Given the description of an element on the screen output the (x, y) to click on. 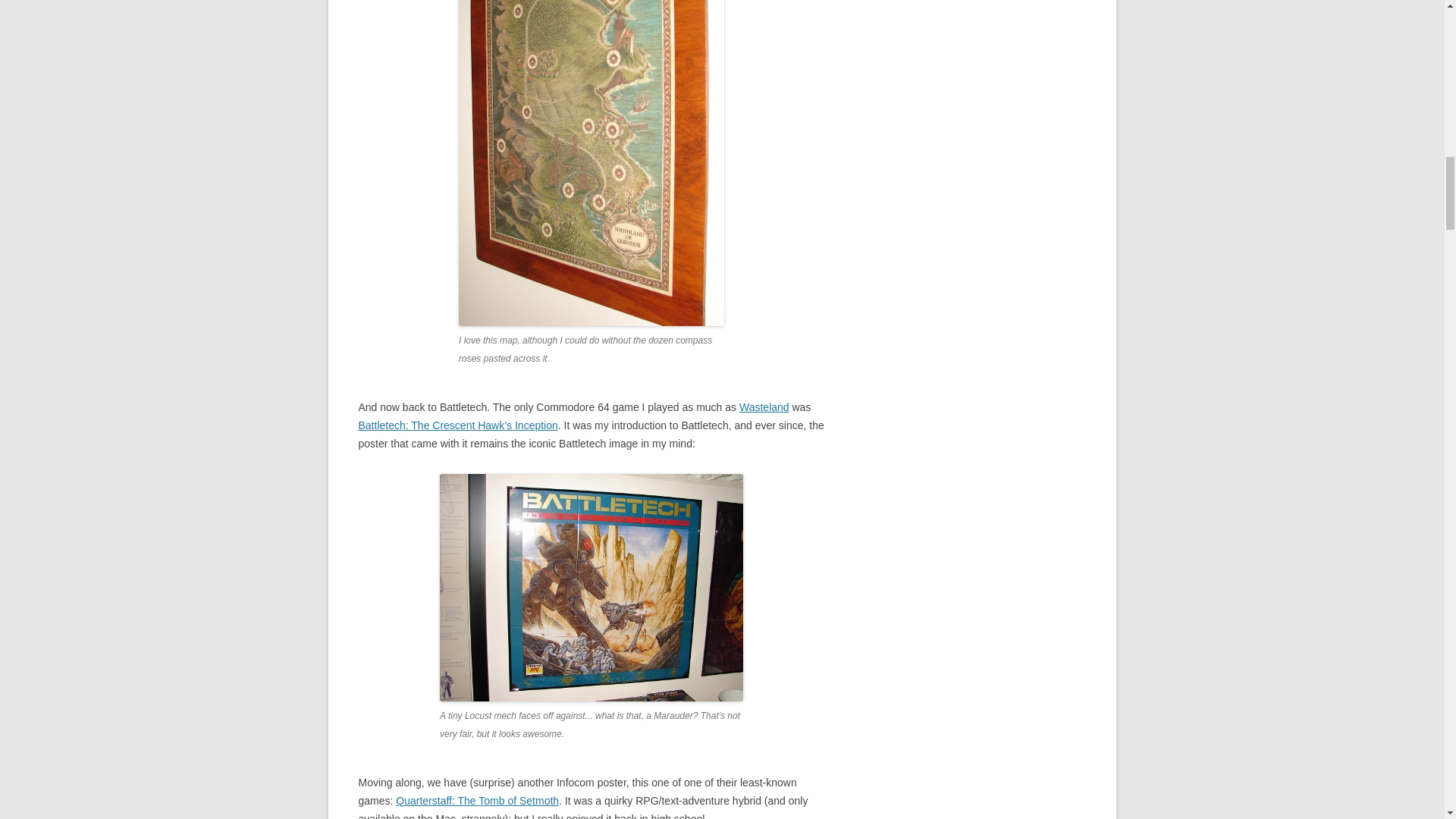
crescenthawk (590, 587)
Wasteland (764, 407)
Quarterstaff: The Tomb of Setmoth (477, 800)
